Given the description of an element on the screen output the (x, y) to click on. 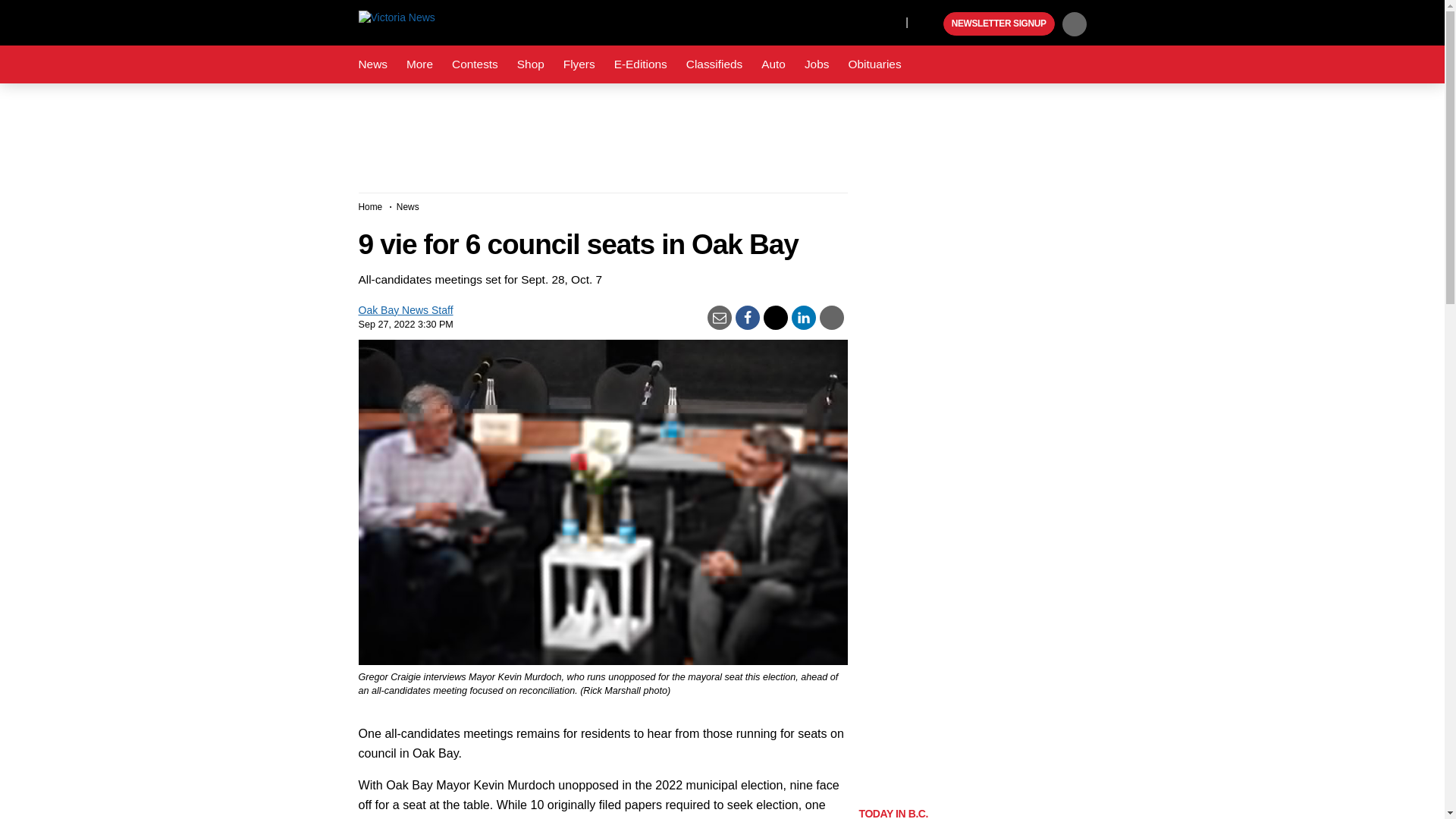
Play (929, 24)
Black Press Media (929, 24)
News (372, 64)
X (889, 21)
NEWSLETTER SIGNUP (998, 24)
